Given the description of an element on the screen output the (x, y) to click on. 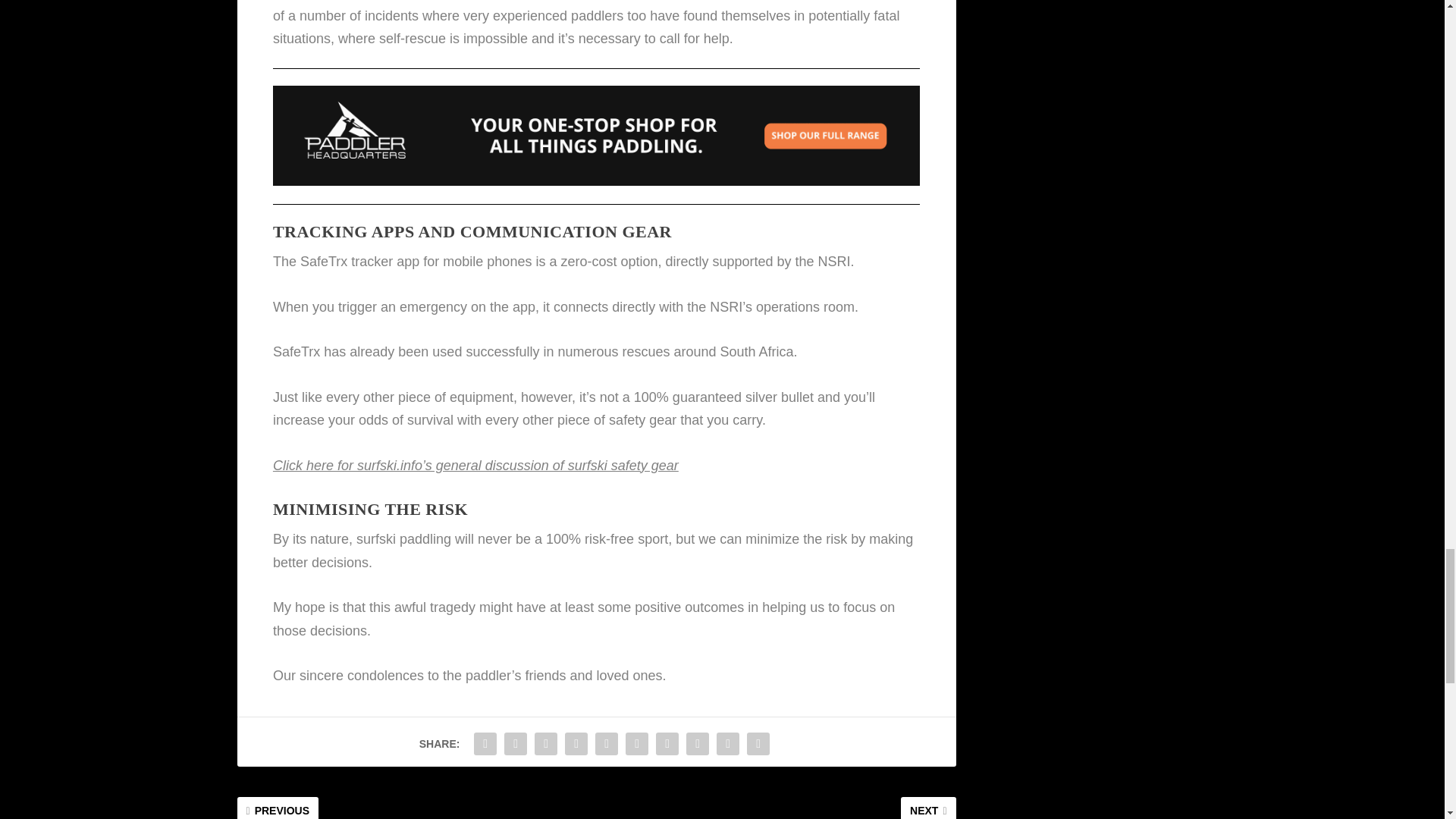
AUS HQ NEW 2 (596, 135)
